Given the description of an element on the screen output the (x, y) to click on. 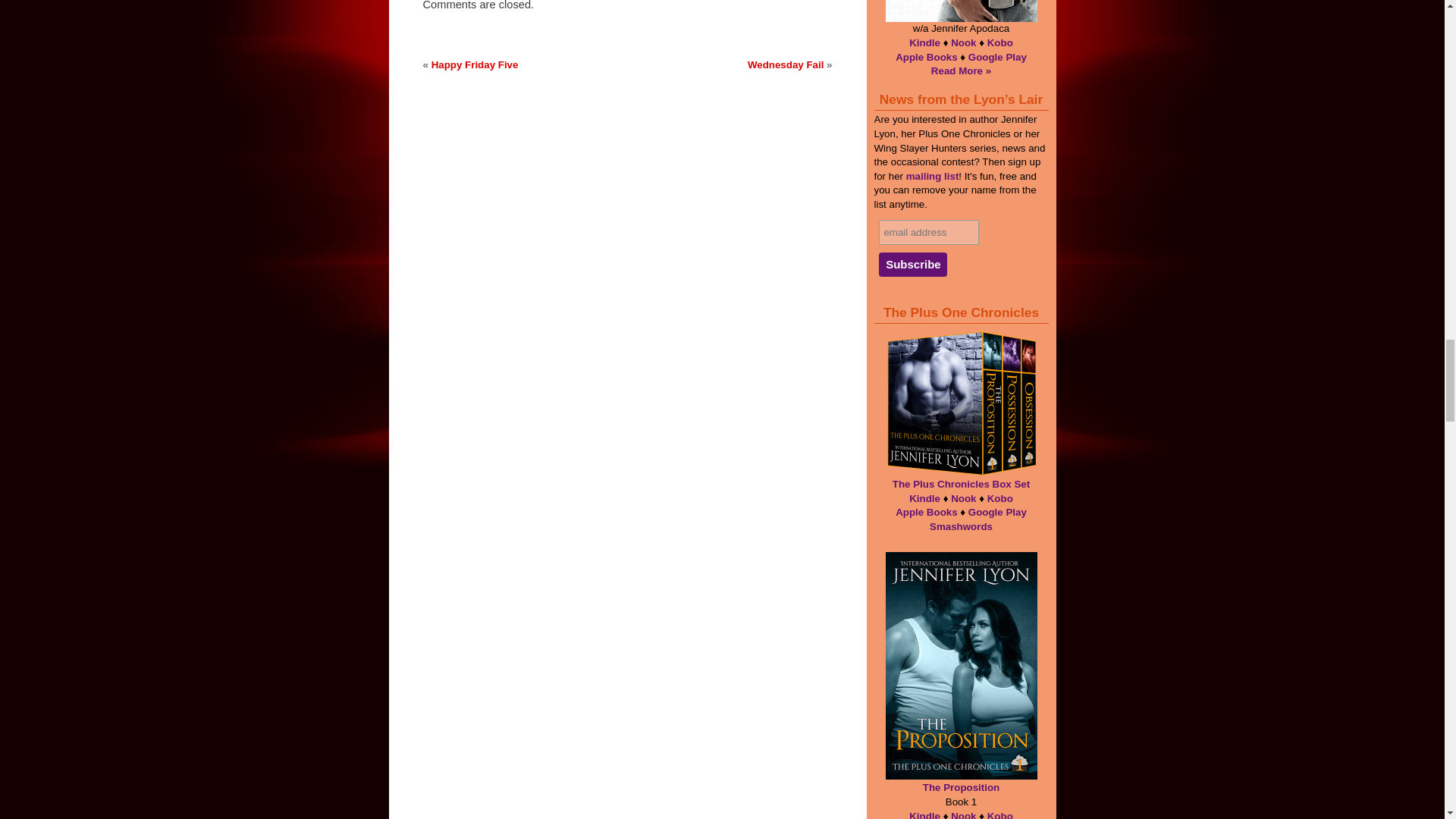
Wednesday Fail (786, 64)
Subscribe (913, 264)
Happy Friday Five (474, 64)
